Given the description of an element on the screen output the (x, y) to click on. 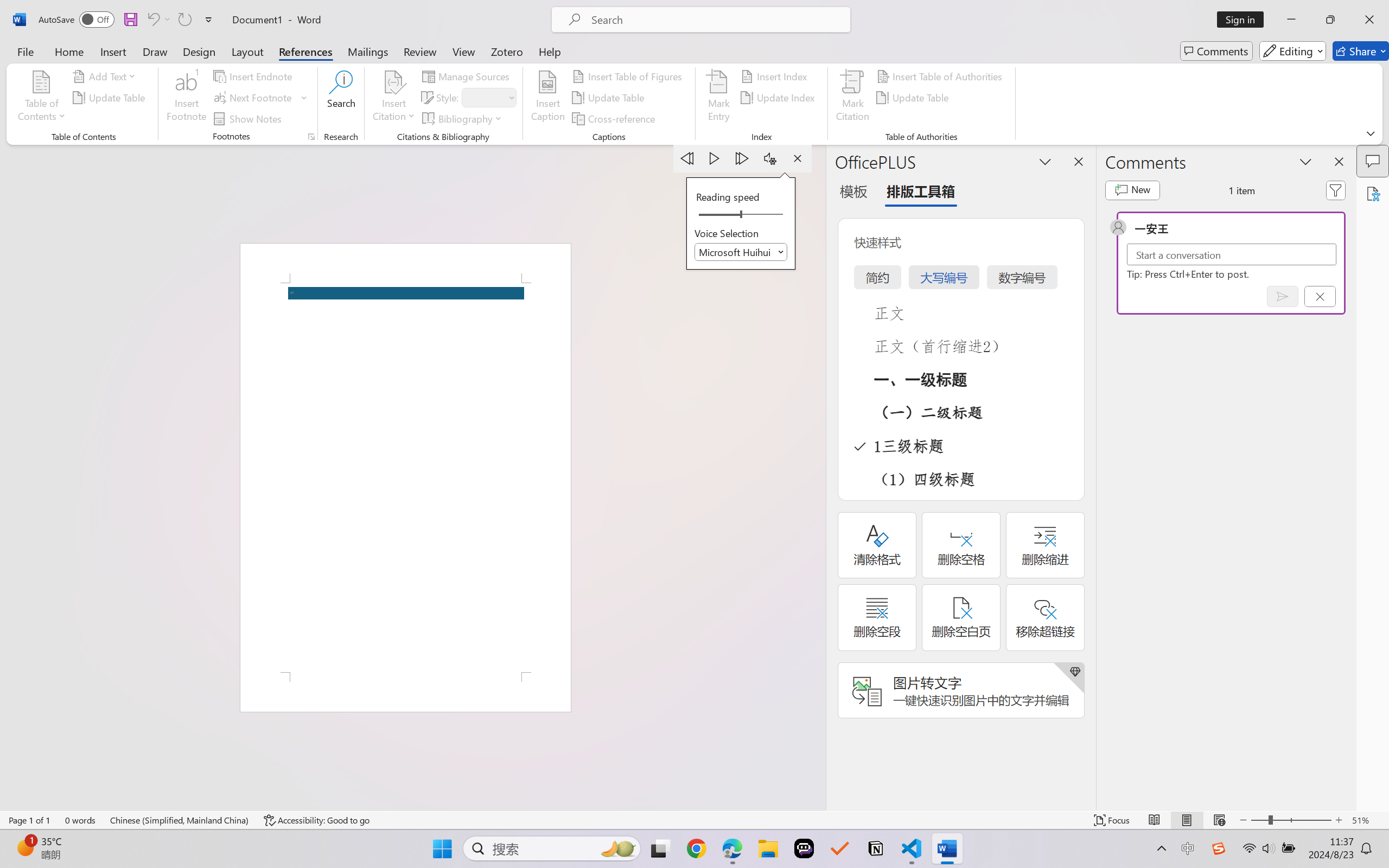
Insert Citation (393, 97)
Repeat Accessibility Checker (184, 19)
Accessibility Assistant (1373, 193)
Undo Apply Quick Style Set (152, 19)
Sign in (1244, 19)
